Given the description of an element on the screen output the (x, y) to click on. 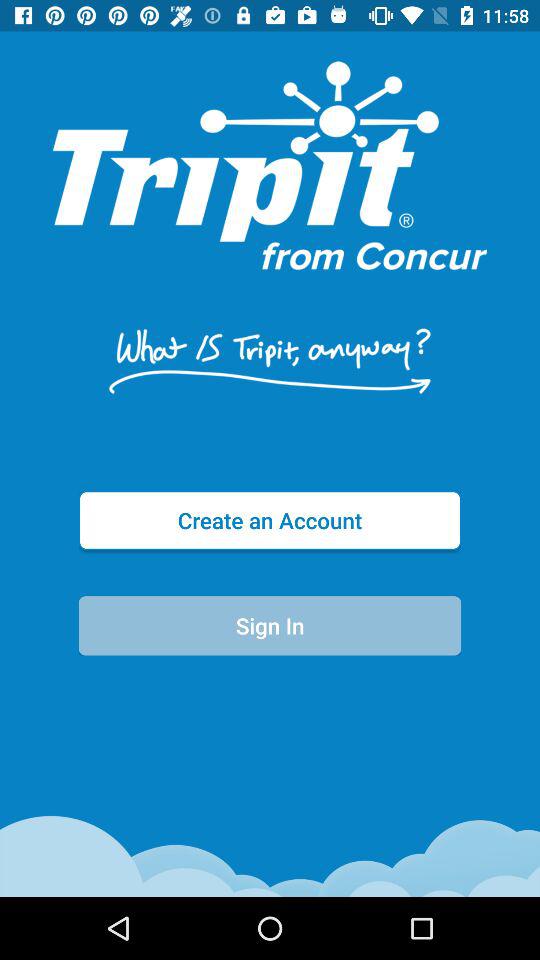
turn on item below the create an account item (269, 625)
